Given the description of an element on the screen output the (x, y) to click on. 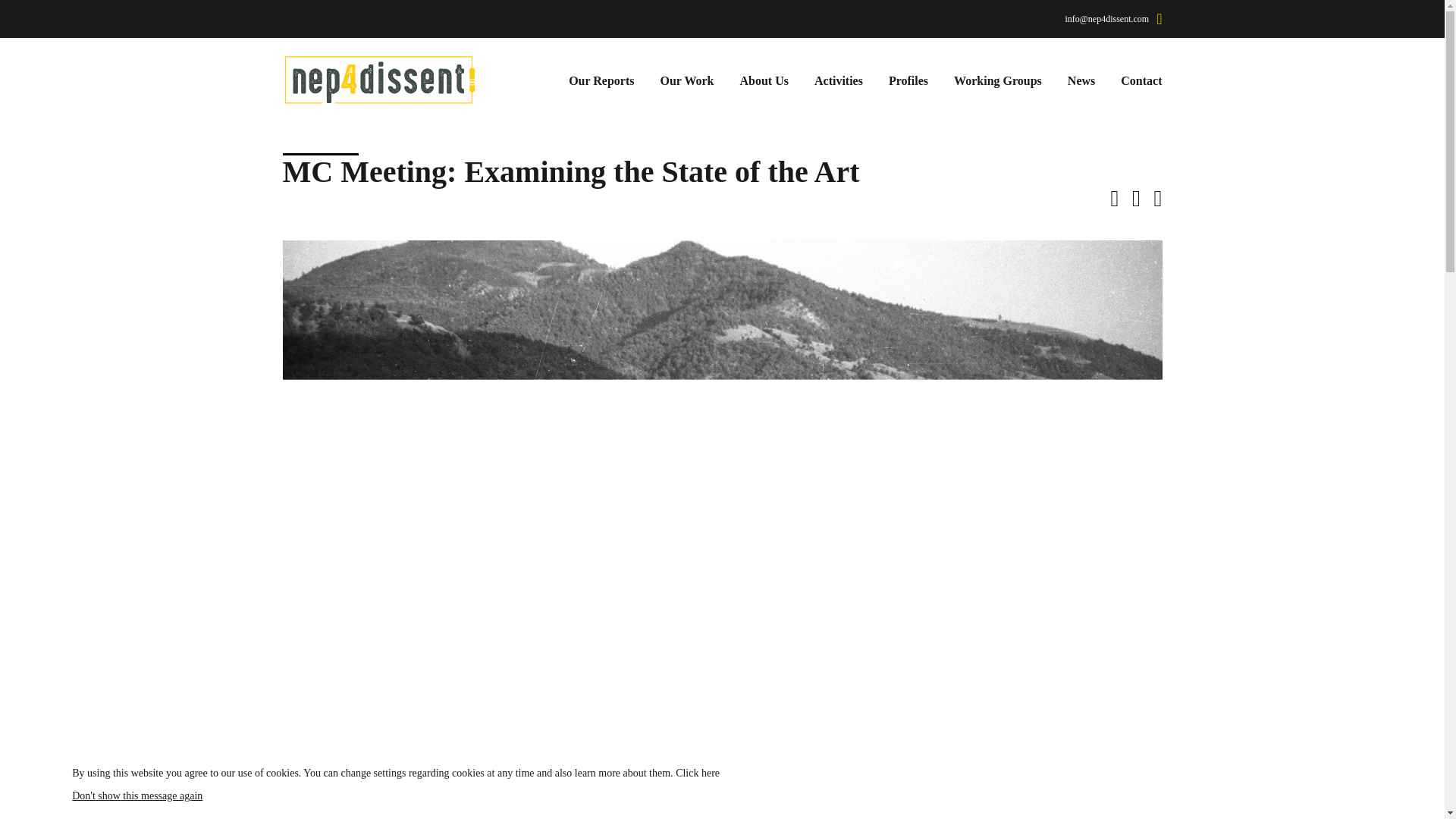
Click here (697, 772)
Our Reports (601, 80)
Activities (838, 80)
About Us (764, 80)
Profiles (908, 80)
Working Groups (997, 80)
Our Work (687, 80)
Contact (1141, 80)
